Given the description of an element on the screen output the (x, y) to click on. 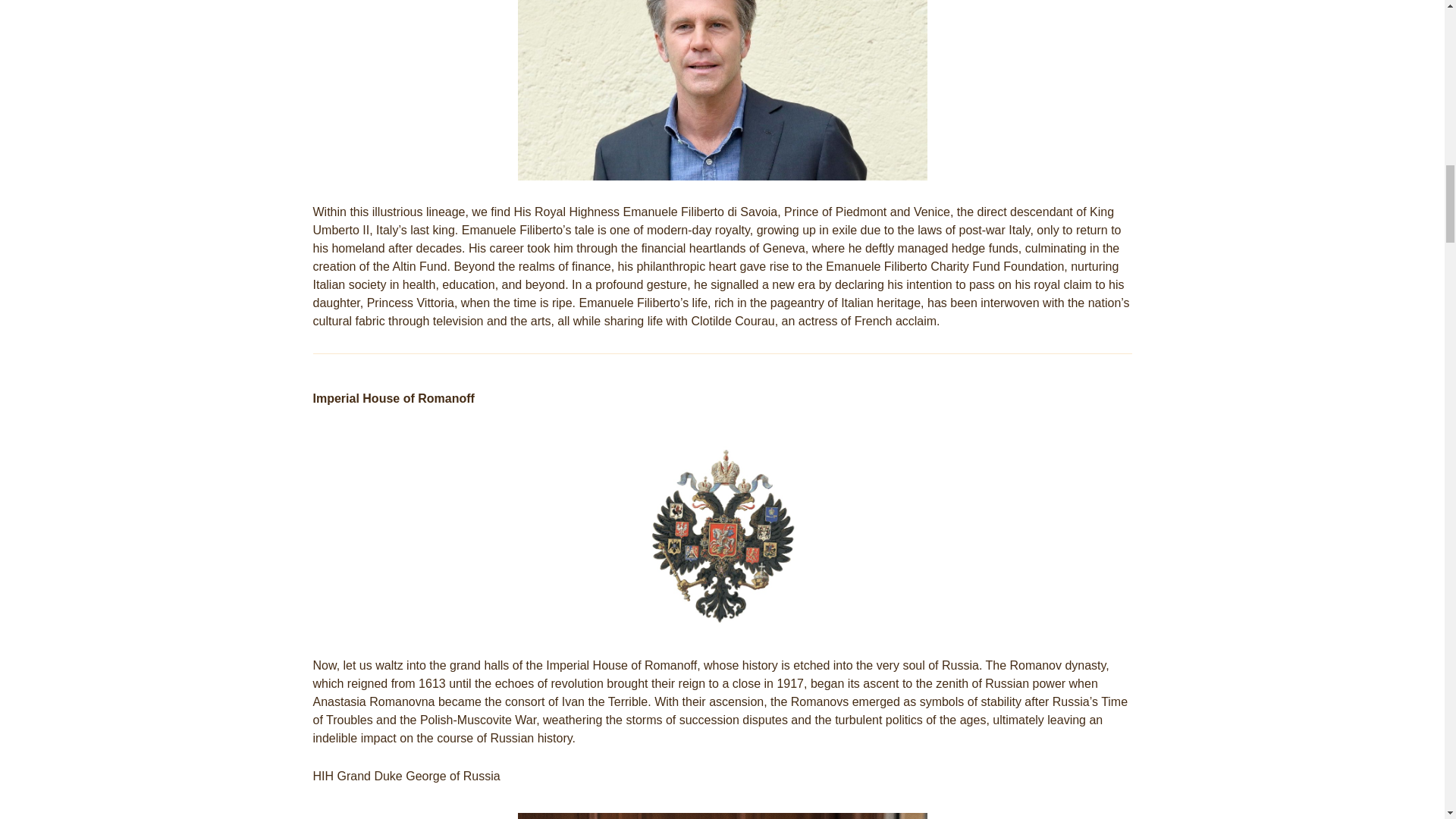
emanuele-filiberto (721, 90)
grand-duke-george-of-russia-georgiy (721, 816)
